Given the description of an element on the screen output the (x, y) to click on. 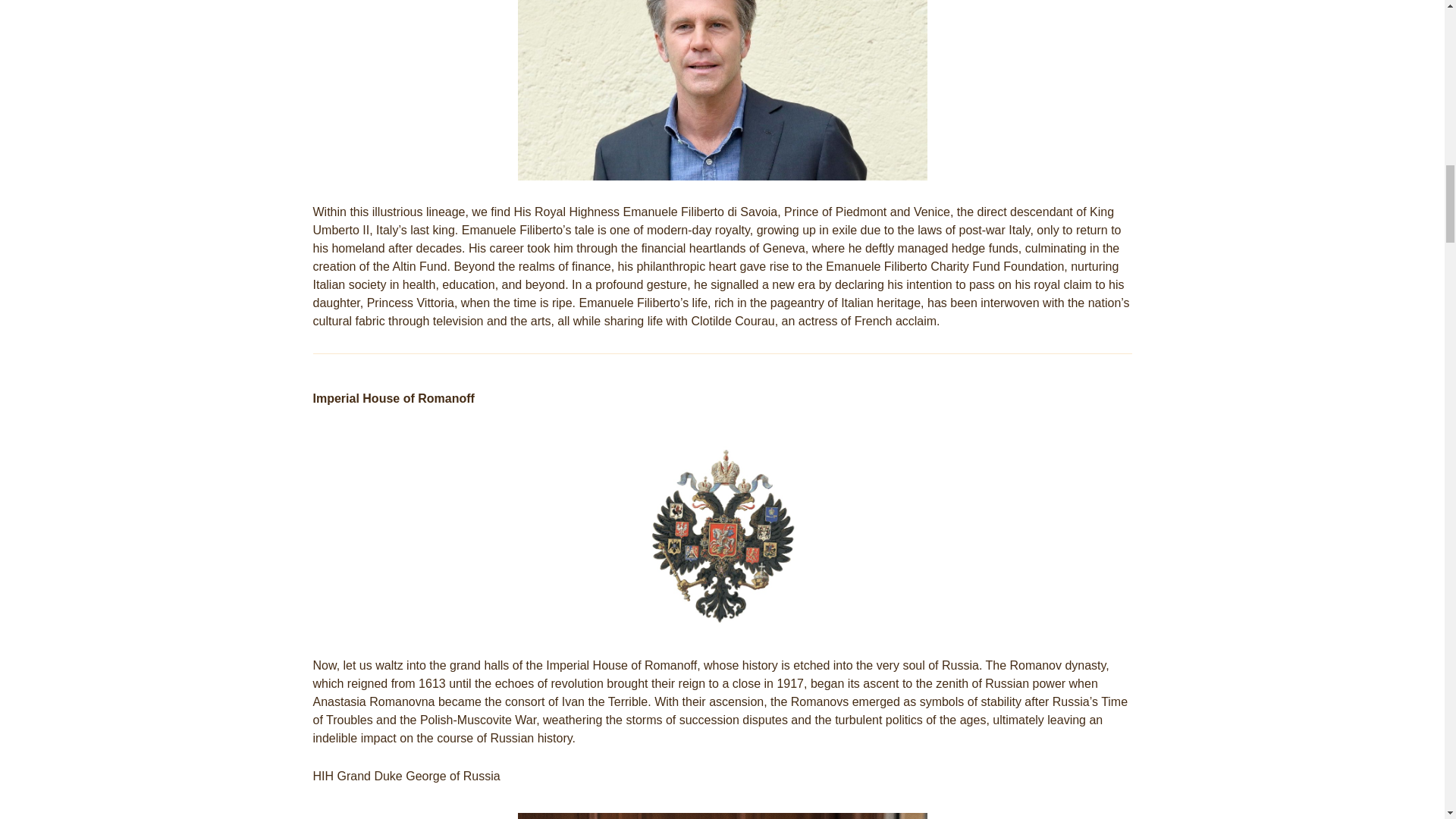
emanuele-filiberto (721, 90)
grand-duke-george-of-russia-georgiy (721, 816)
